Given the description of an element on the screen output the (x, y) to click on. 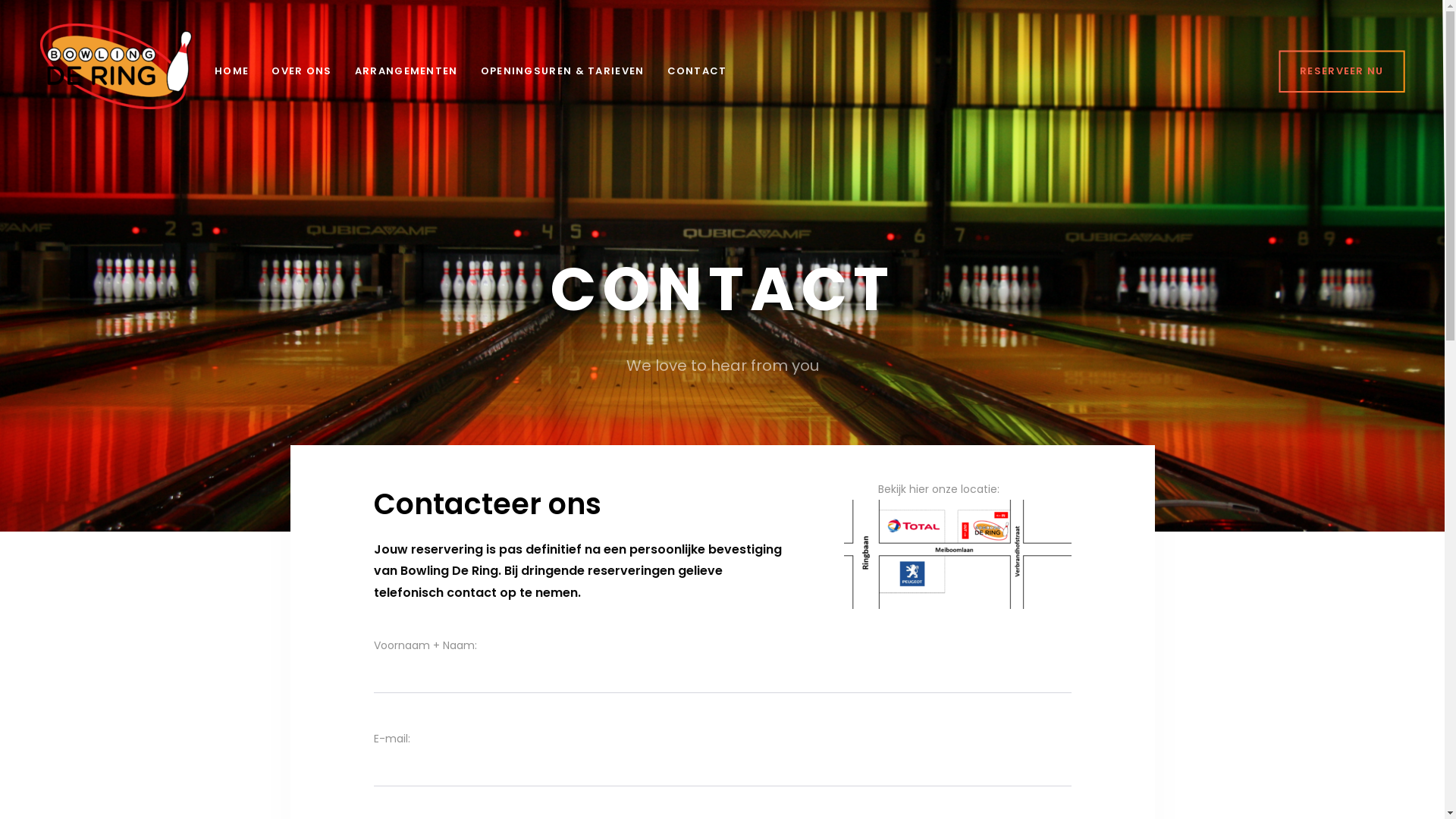
OVER ONS Element type: text (301, 71)
OPENINGSUREN & TARIEVEN Element type: text (562, 71)
RESERVEER NU Element type: text (1341, 71)
CONTACT Element type: text (697, 71)
HOME Element type: text (231, 71)
ARRANGEMENTEN Element type: text (406, 71)
